Given the description of an element on the screen output the (x, y) to click on. 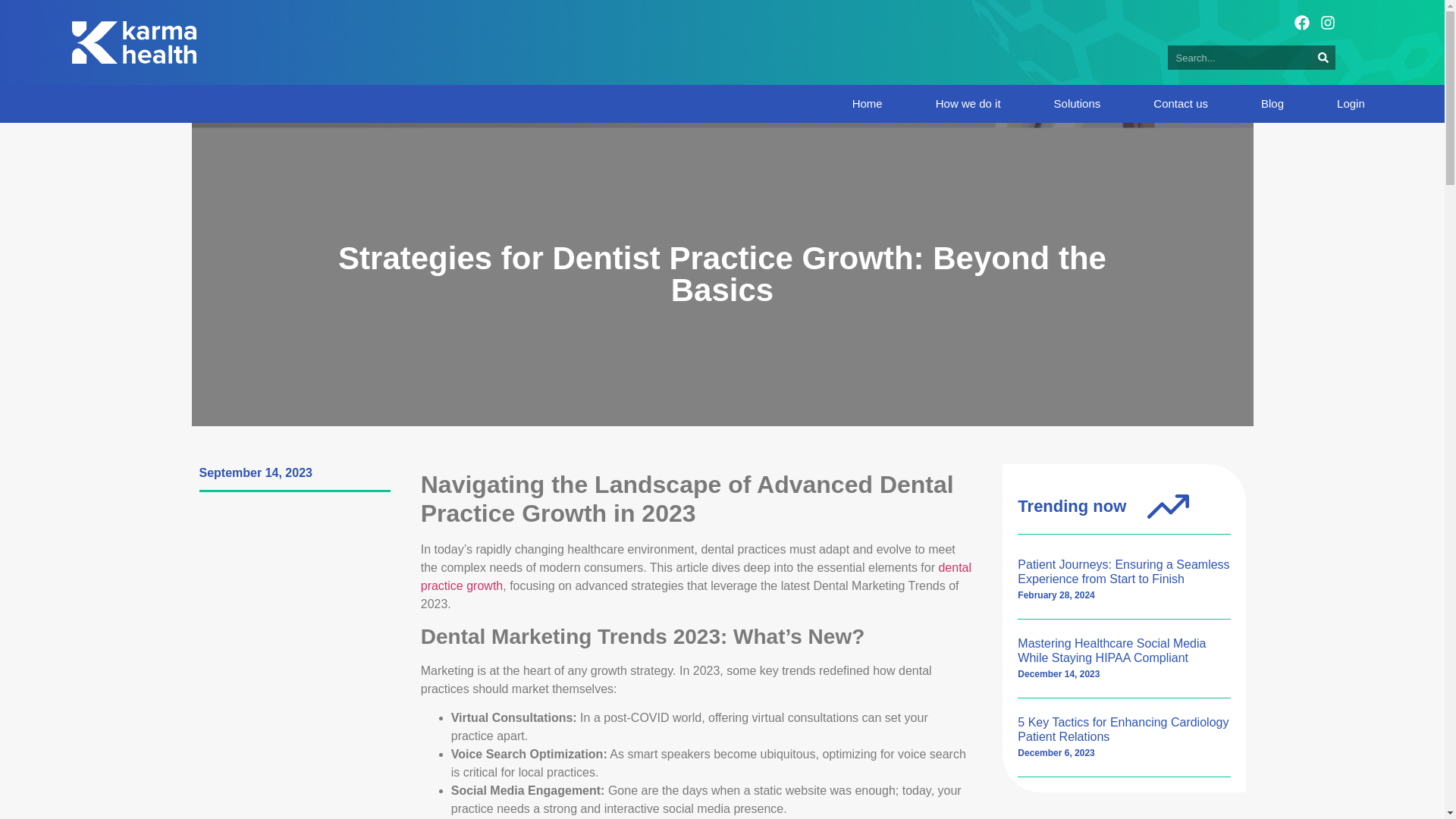
How we do it (968, 103)
Home (866, 103)
Contact us (1180, 103)
Blog (1272, 103)
Login (1350, 103)
Solutions (1077, 103)
